Given the description of an element on the screen output the (x, y) to click on. 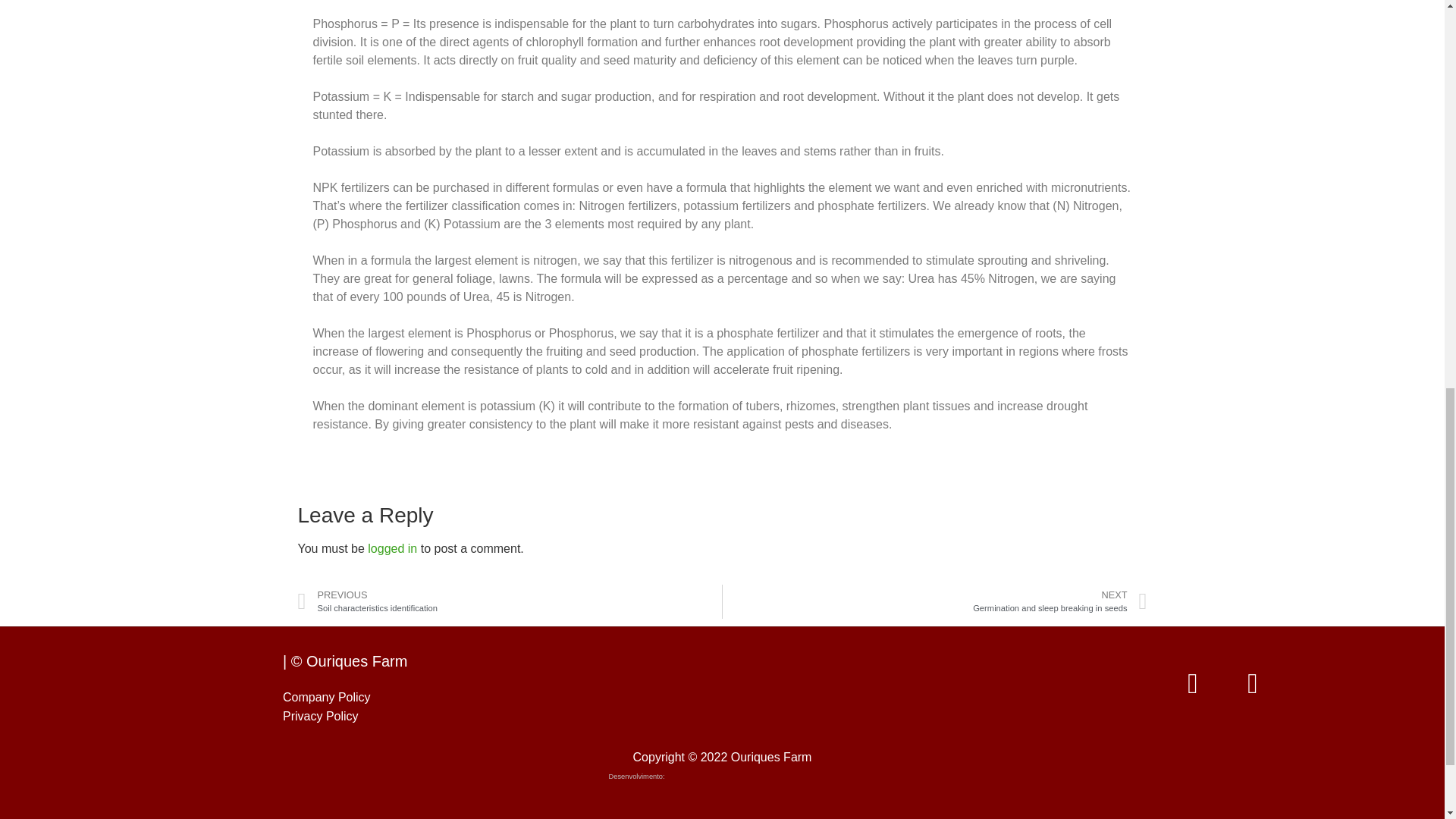
cc-badges-quinta-dos-ouriques (927, 684)
logged in (392, 548)
Privacy Policy (509, 601)
Company Policy (320, 716)
